Given the description of an element on the screen output the (x, y) to click on. 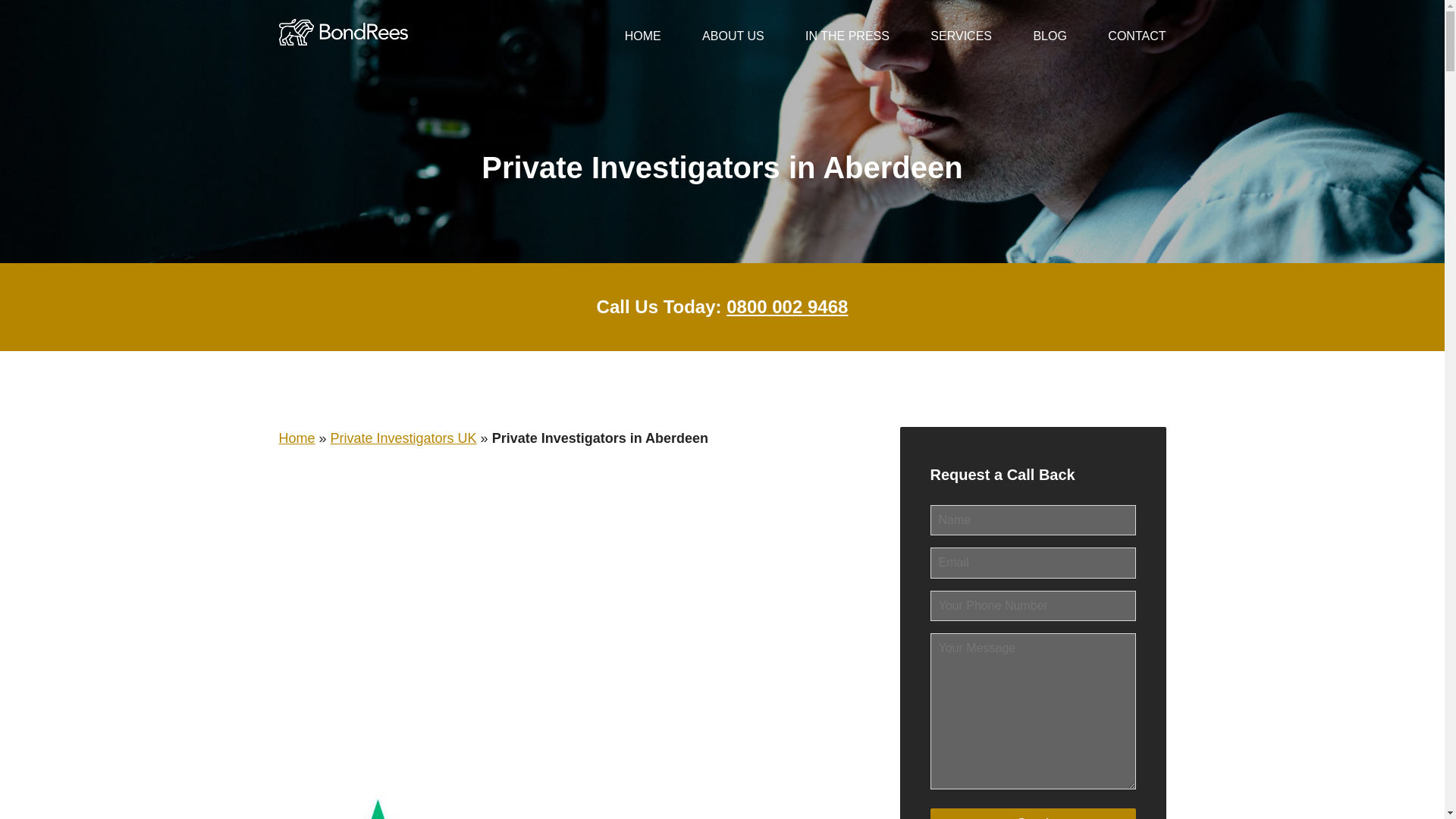
Bond Rees Investigations (343, 21)
SERVICES (960, 35)
Send (1032, 813)
HOME (642, 35)
0800 002 9468 (786, 306)
CONTACT (1137, 35)
IN THE PRESS (847, 35)
Private Investigators UK (403, 437)
Home (297, 437)
BLOG (1048, 35)
